Given the description of an element on the screen output the (x, y) to click on. 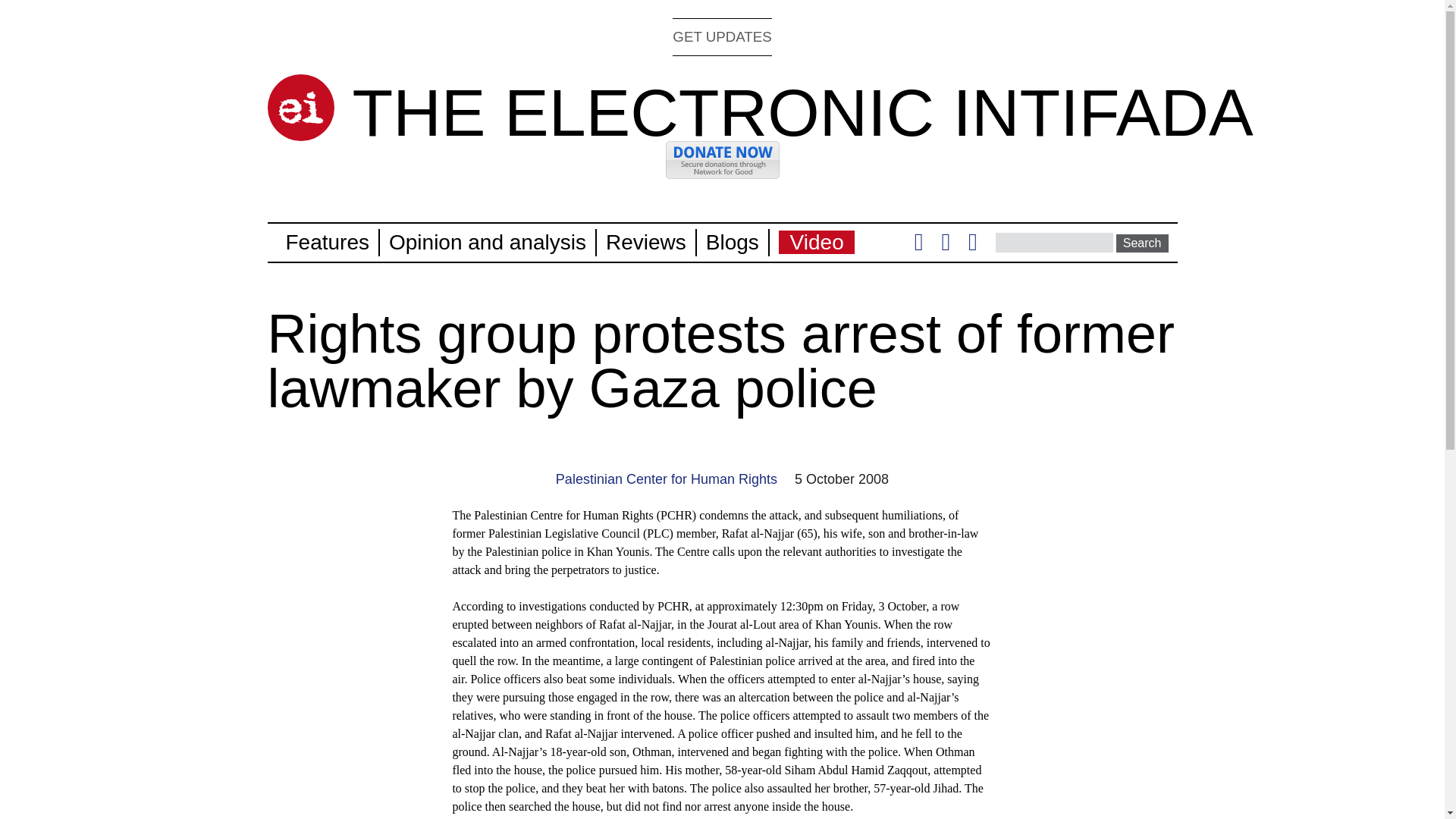
Blogs (732, 241)
Opinion and analysis (487, 241)
Search (1142, 243)
Palestinian Center for Human Rights (666, 478)
Search (1142, 243)
Home (299, 107)
Features (327, 241)
Home (802, 112)
Video (817, 241)
GET UPDATES (721, 37)
